Given the description of an element on the screen output the (x, y) to click on. 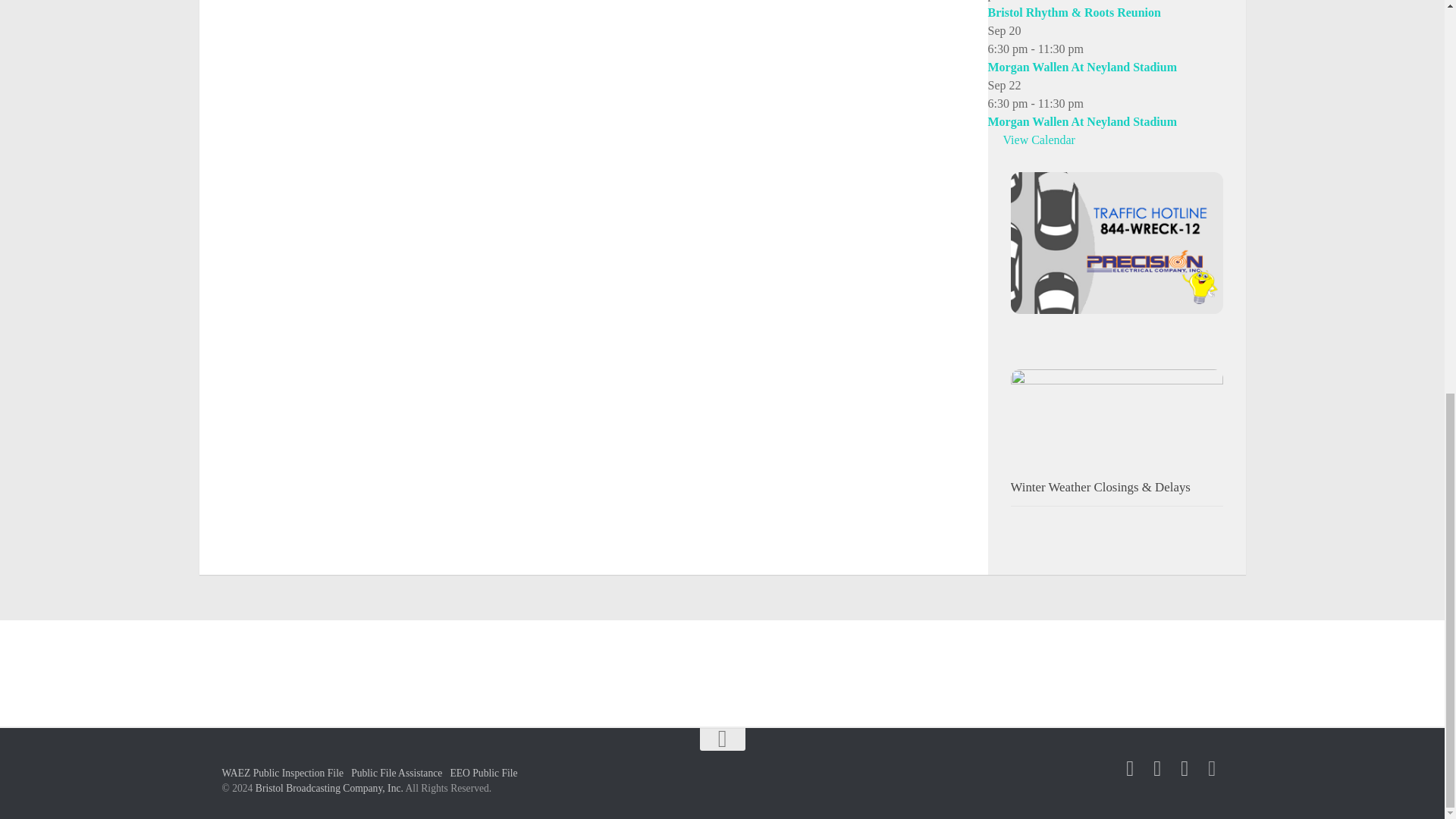
Morgan Wallen At Neyland Stadium (1081, 66)
Morgan Wallen At Neyland Stadium (1081, 121)
